Given the description of an element on the screen output the (x, y) to click on. 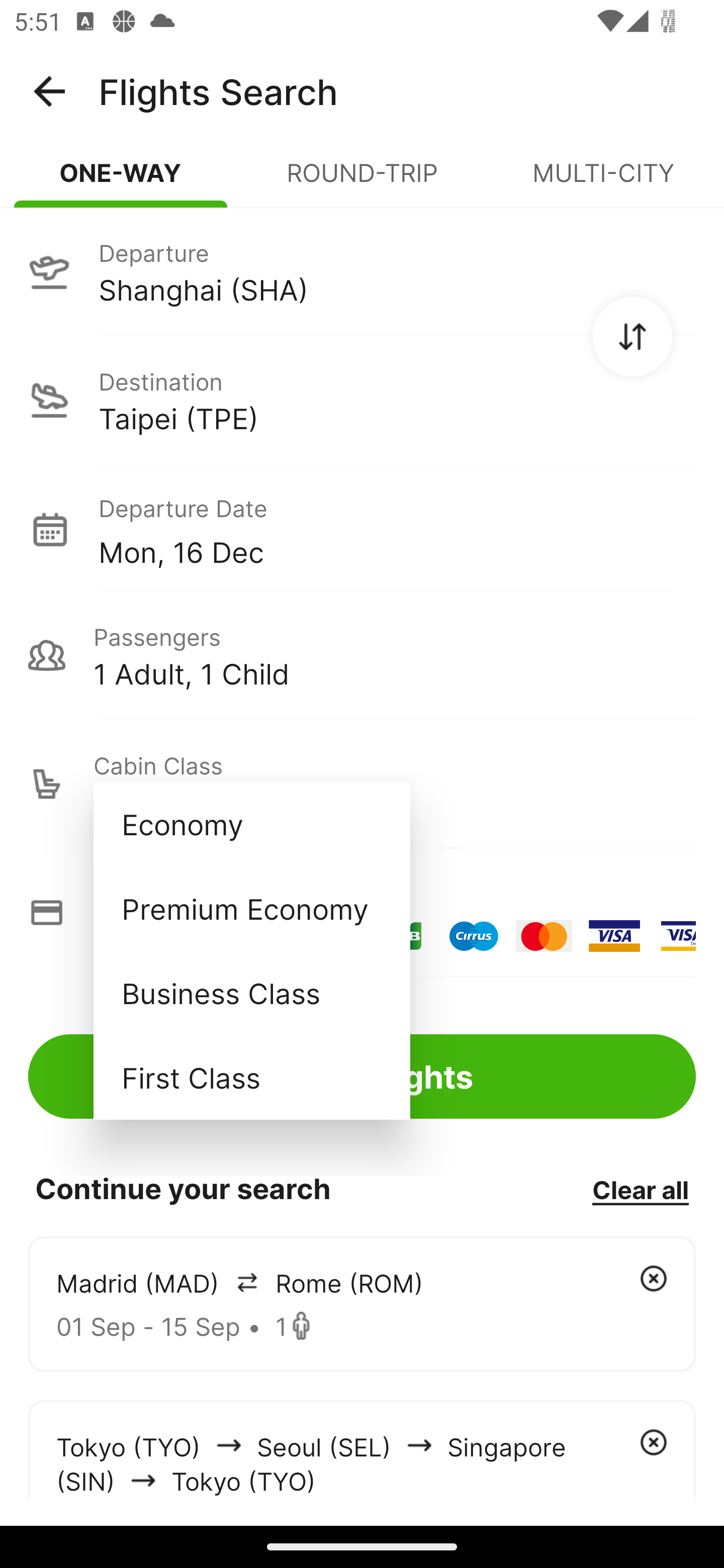
Economy (251, 824)
Premium Economy (251, 908)
Business Class (251, 992)
First Class (251, 1076)
